Given the description of an element on the screen output the (x, y) to click on. 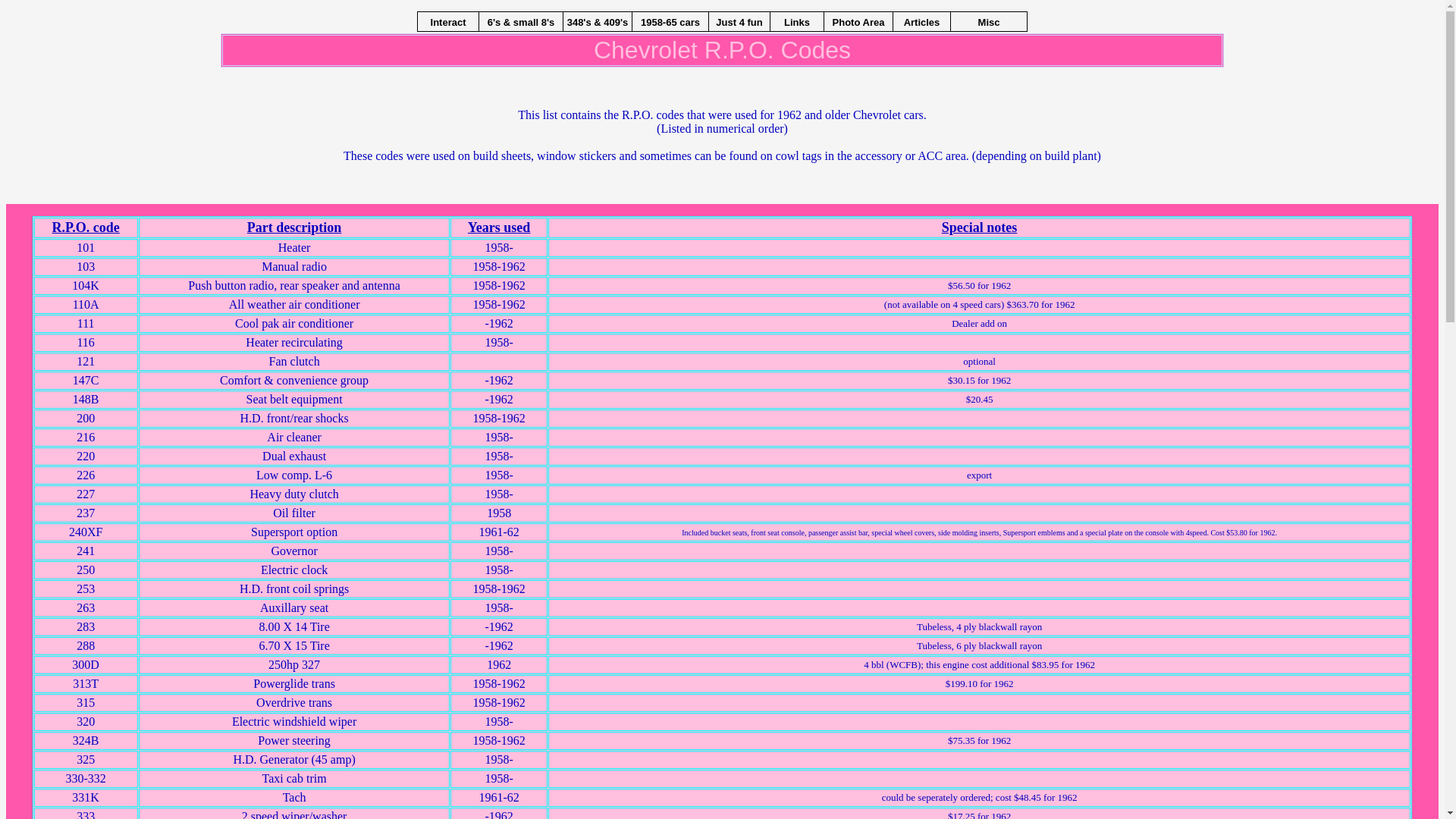
348's & 409's Element type: text (597, 21)
Misc Element type: text (988, 21)
1958-65 cars Element type: text (670, 21)
Links Element type: text (796, 21)
Just 4 fun Element type: text (739, 21)
Photo Area Element type: text (858, 21)
Articles Element type: text (921, 21)
Interact Element type: text (447, 21)
6's & small 8's Element type: text (520, 21)
